Given the description of an element on the screen output the (x, y) to click on. 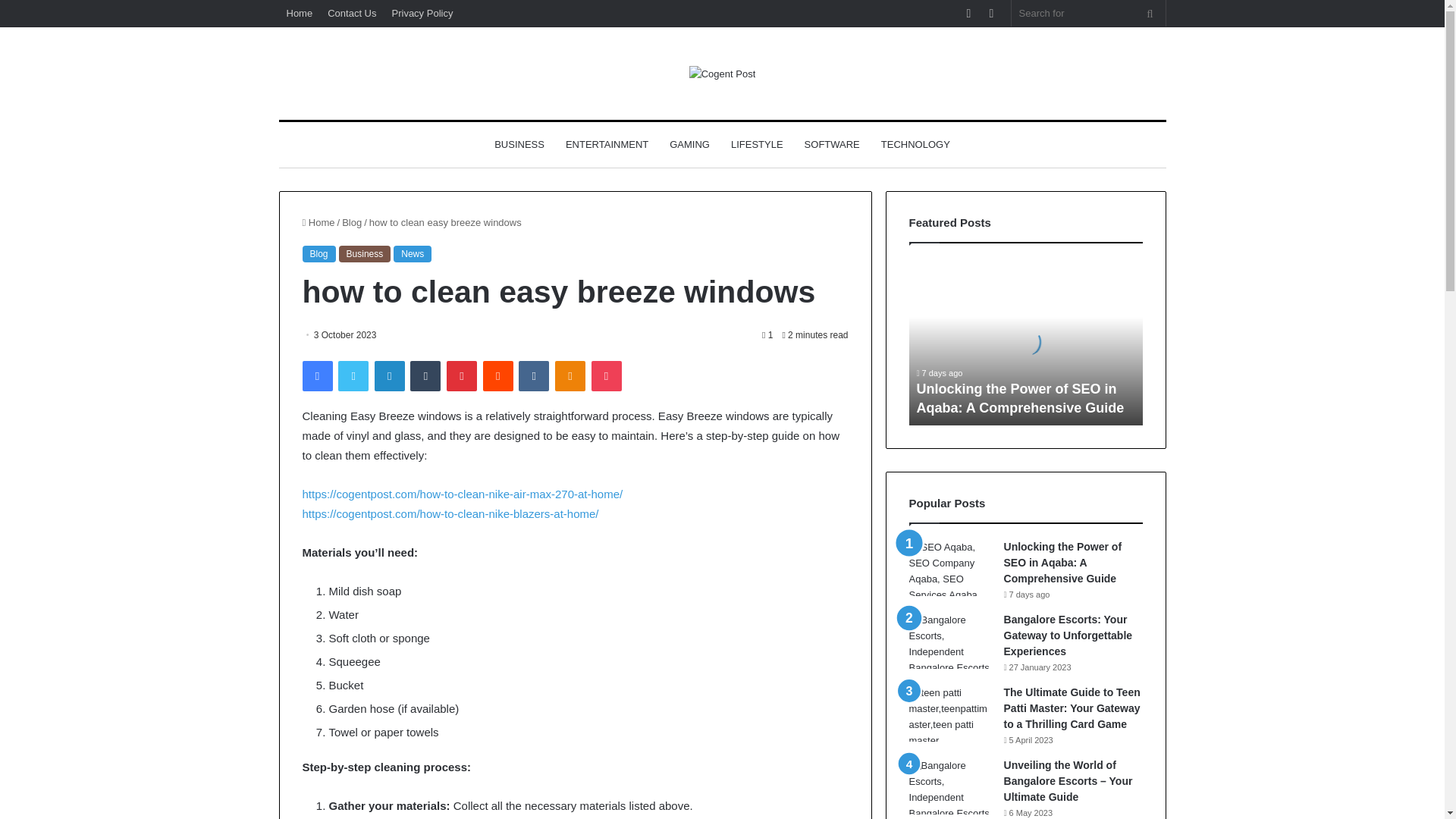
GAMING (689, 144)
Cogent Post (721, 73)
VKontakte (533, 376)
Contact Us (352, 13)
Search for (1088, 13)
Odnoklassniki (569, 376)
ENTERTAINMENT (606, 144)
News (411, 253)
Blog (317, 253)
BUSINESS (518, 144)
TECHNOLOGY (915, 144)
Odnoklassniki (569, 376)
Tumblr (425, 376)
Twitter (352, 376)
Business (365, 253)
